Given the description of an element on the screen output the (x, y) to click on. 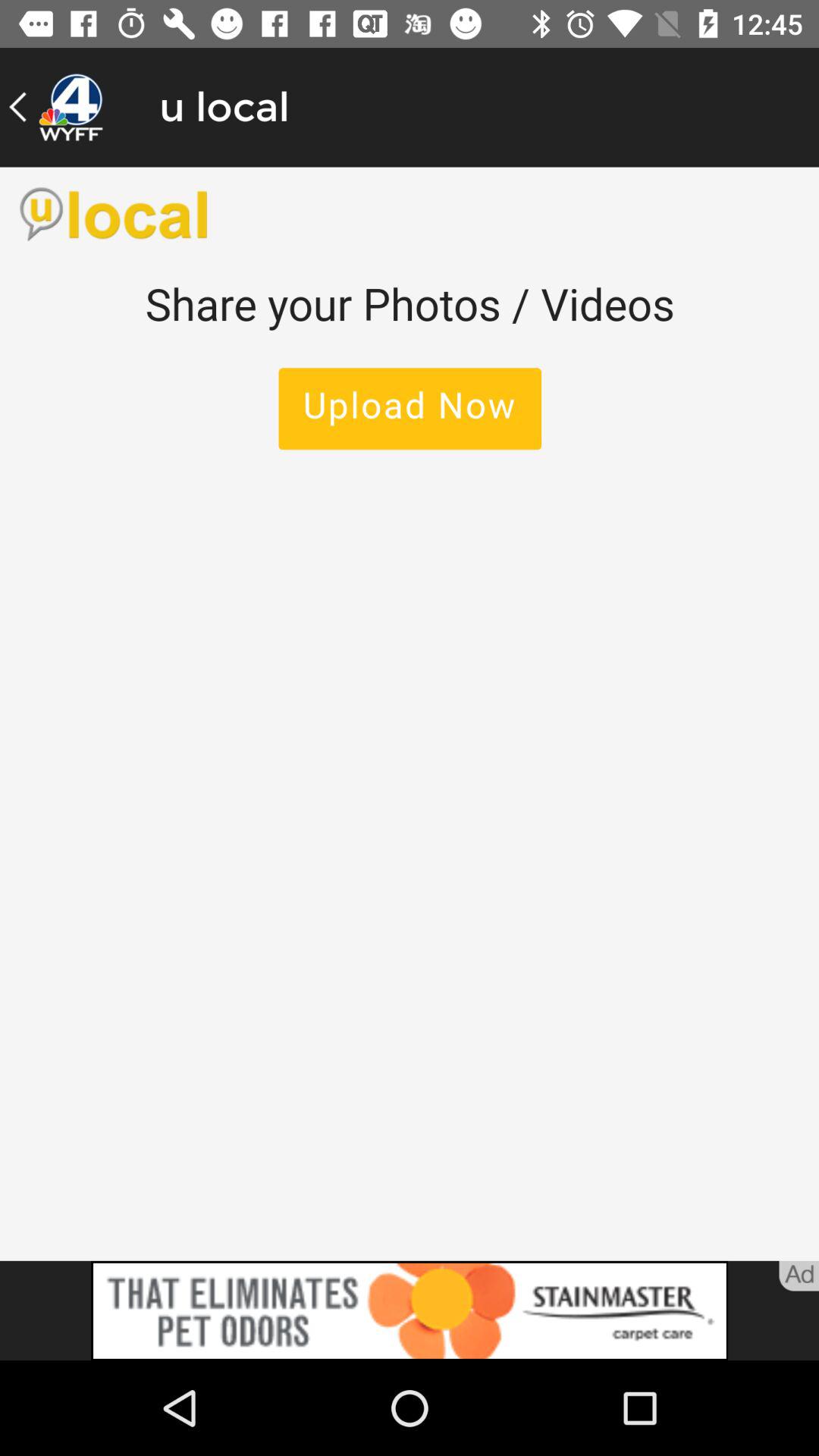
upload file (409, 713)
